Given the description of an element on the screen output the (x, y) to click on. 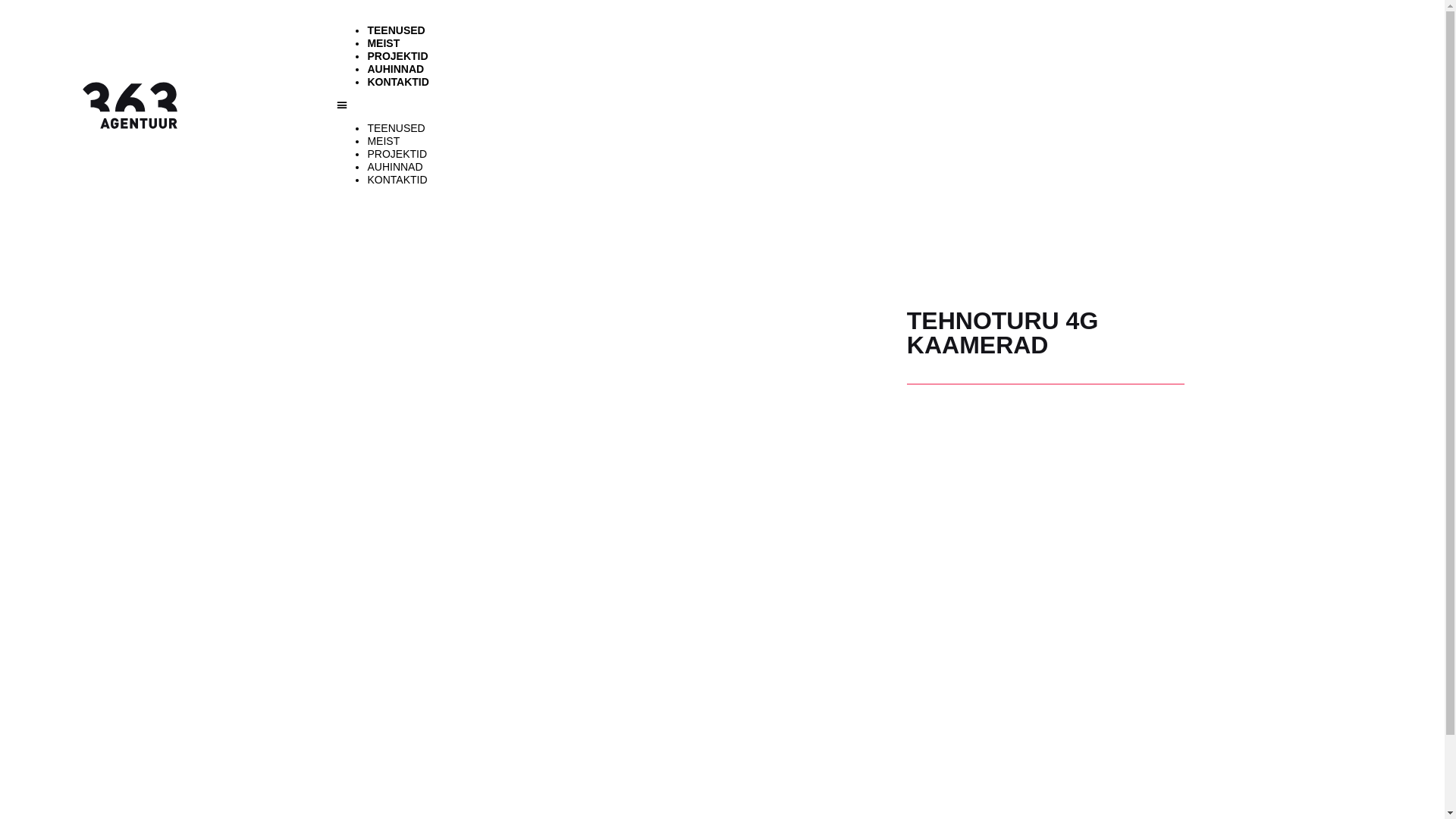
MEIST Element type: text (383, 140)
KONTAKTID Element type: text (396, 179)
PROJEKTID Element type: text (397, 56)
KONTAKTID Element type: text (397, 81)
MEIST Element type: text (383, 43)
TEENUSED Element type: text (395, 30)
AUHINNAD Element type: text (395, 68)
TEENUSED Element type: text (395, 128)
AUHINNAD Element type: text (394, 166)
PROJEKTID Element type: text (396, 153)
